Given the description of an element on the screen output the (x, y) to click on. 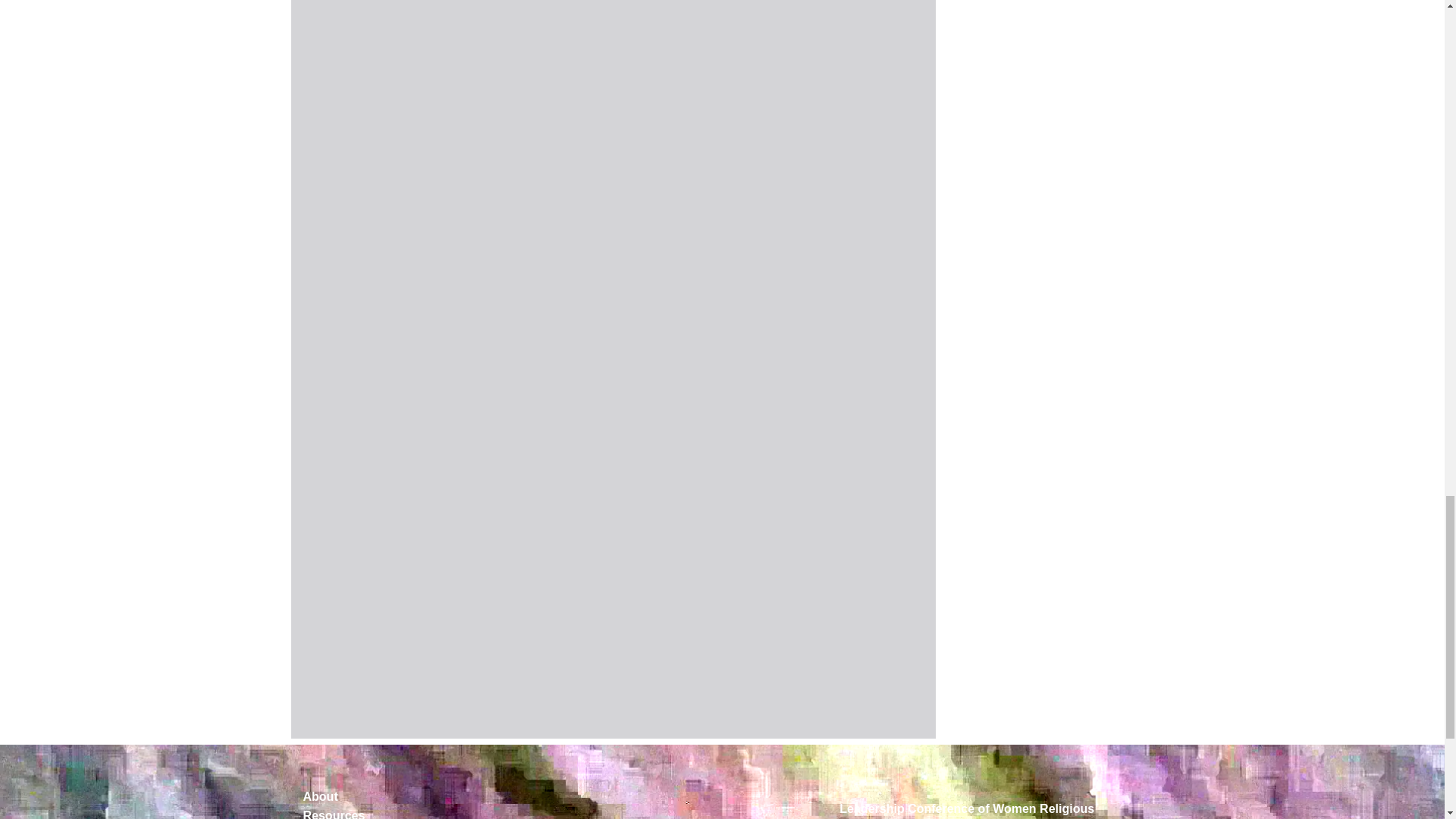
Resources (463, 812)
About (463, 796)
Leadership Conference of Women Religious (967, 808)
